Given the description of an element on the screen output the (x, y) to click on. 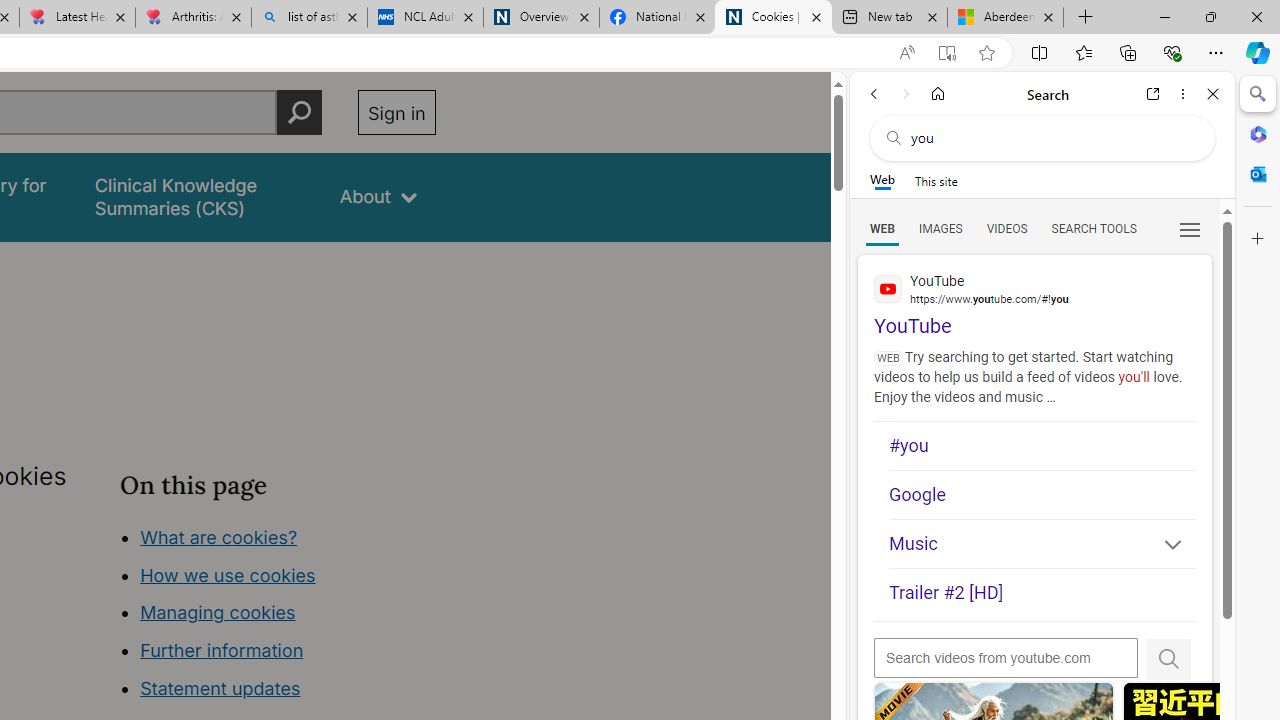
Perform search (299, 112)
NCL Adult Asthma Inhaler Choice Guideline (424, 17)
false (198, 196)
This site scope (936, 180)
Search Filter, Search Tools (1093, 228)
Search Filter, WEB (882, 228)
Open link in new tab (1153, 93)
Search Filter, IMAGES (939, 228)
VIDEOS (1006, 228)
More options (1182, 93)
Managing cookies (217, 612)
